Given the description of an element on the screen output the (x, y) to click on. 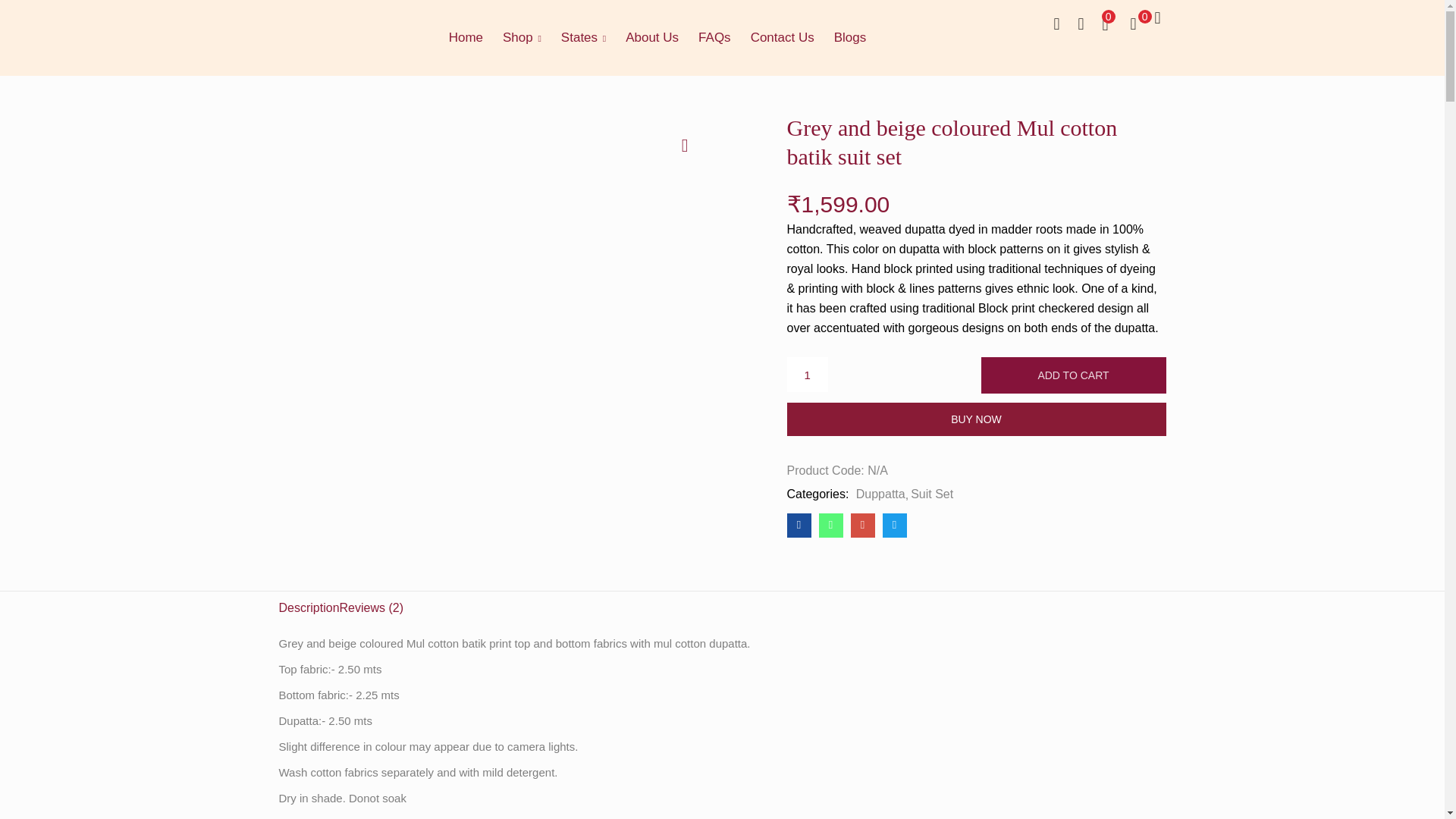
Grey and beige coloured Mul cotton batik suit set (862, 525)
1 (807, 374)
Grey and beige coloured Mul cotton batik suit set (798, 525)
Grey and beige coloured Mul cotton batik suit set (830, 525)
